Given the description of an element on the screen output the (x, y) to click on. 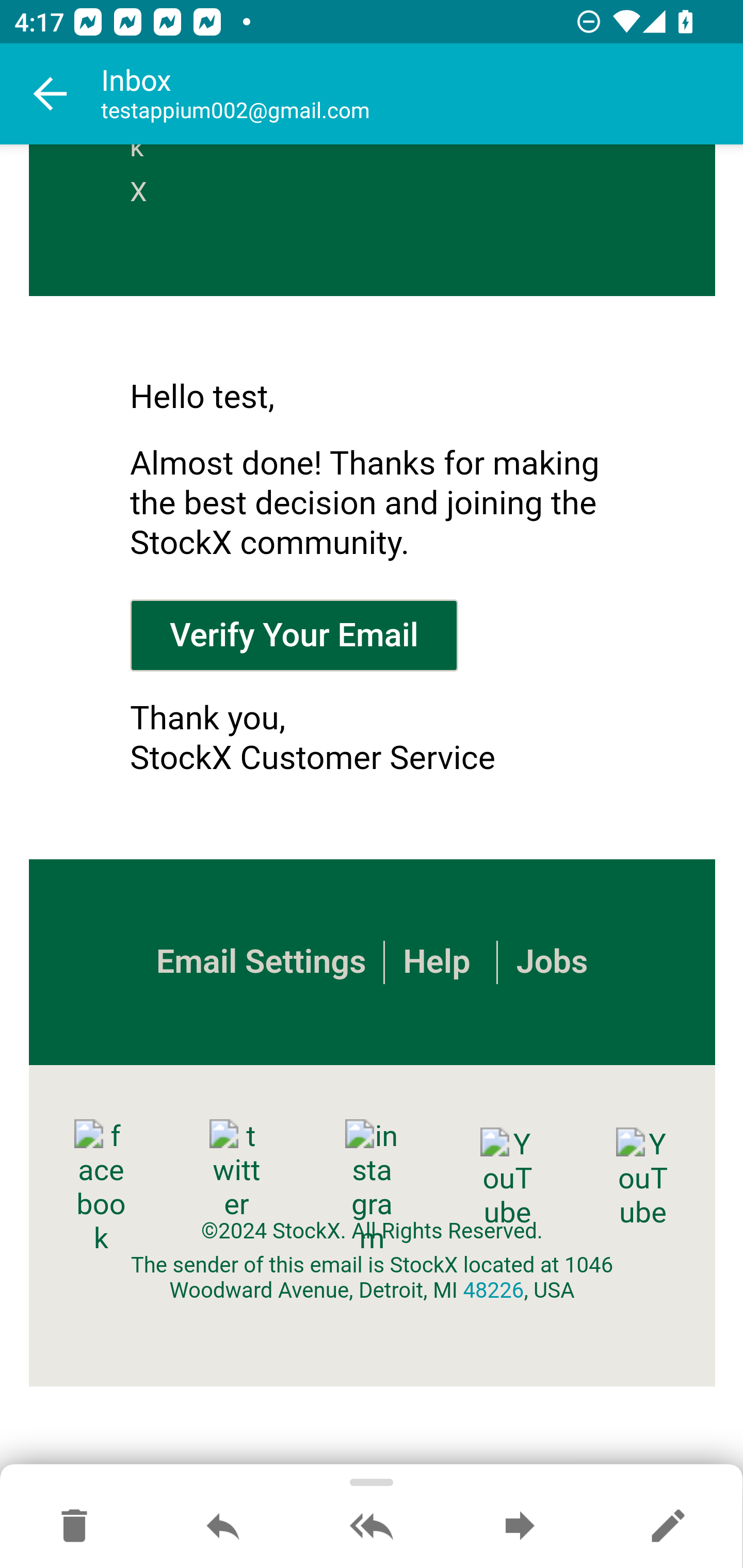
Navigate up (50, 93)
Inbox testappium002@gmail.com (422, 93)
StockX (145, 180)
Verify Your Email (293, 634)
Email Settings (260, 961)
Help (436, 961)
Jobs (551, 961)
facebook (101, 1187)
twitter (236, 1170)
instagram (372, 1187)
YouTube (507, 1177)
YouTube (642, 1177)
48226 (493, 1290)
Move to Deleted (74, 1527)
Reply (222, 1527)
Reply all (371, 1527)
Forward (519, 1527)
Reply as new (667, 1527)
